Given the description of an element on the screen output the (x, y) to click on. 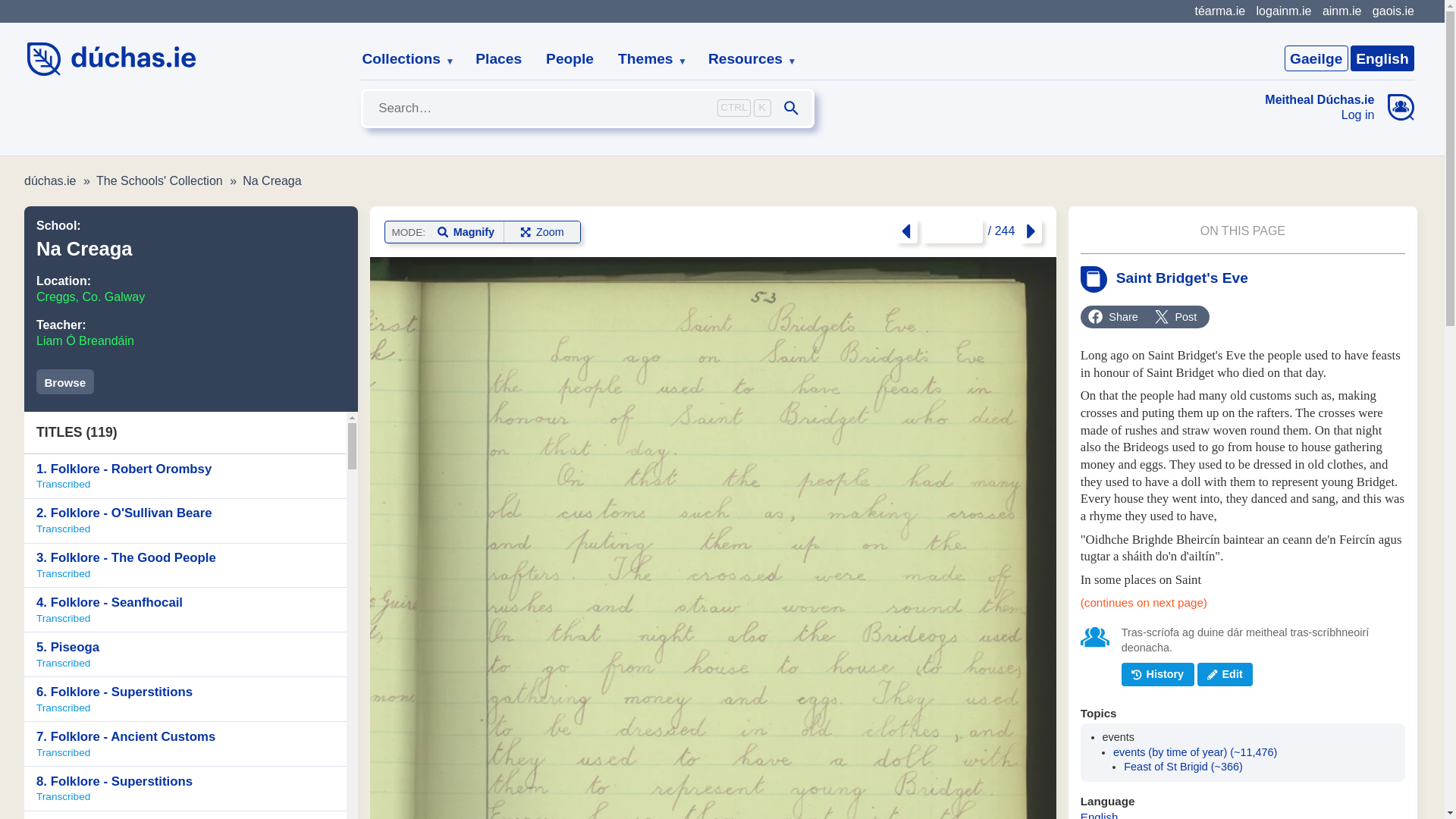
logainm.ie (1283, 11)
Places (185, 520)
gaois.ie (498, 58)
Gaeilge (1393, 11)
Themes (185, 476)
Creggs, Co. Galway (1316, 58)
Resources (646, 59)
Browse (90, 296)
